Given the description of an element on the screen output the (x, y) to click on. 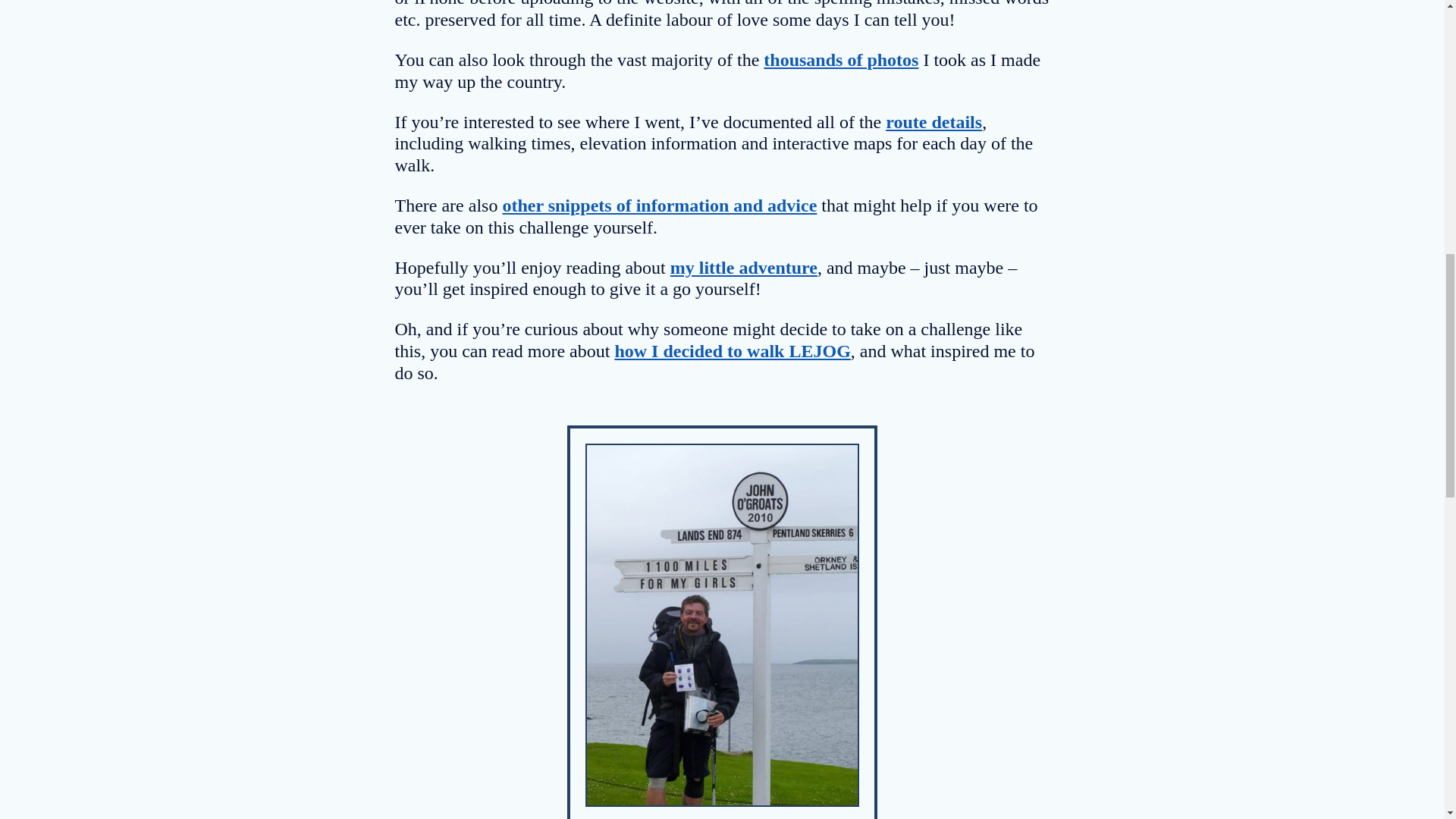
Detailed Route Information (933, 121)
The story of my LEJOG (742, 267)
Doing The Walk (659, 205)
Photos Of My Adventure (840, 59)
Why I walked LEJOG (732, 351)
